Given the description of an element on the screen output the (x, y) to click on. 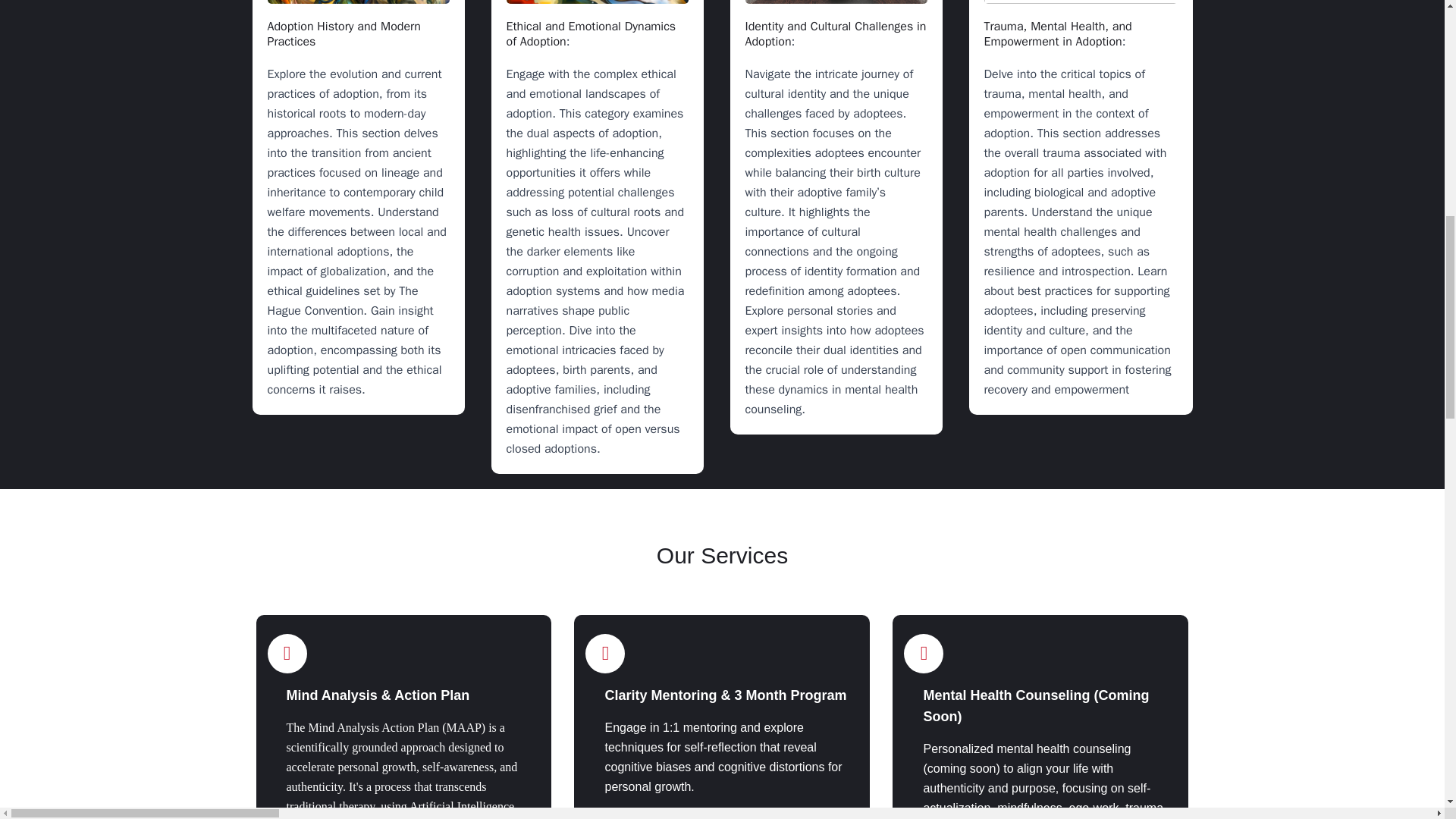
Learn More (643, 815)
